Given the description of an element on the screen output the (x, y) to click on. 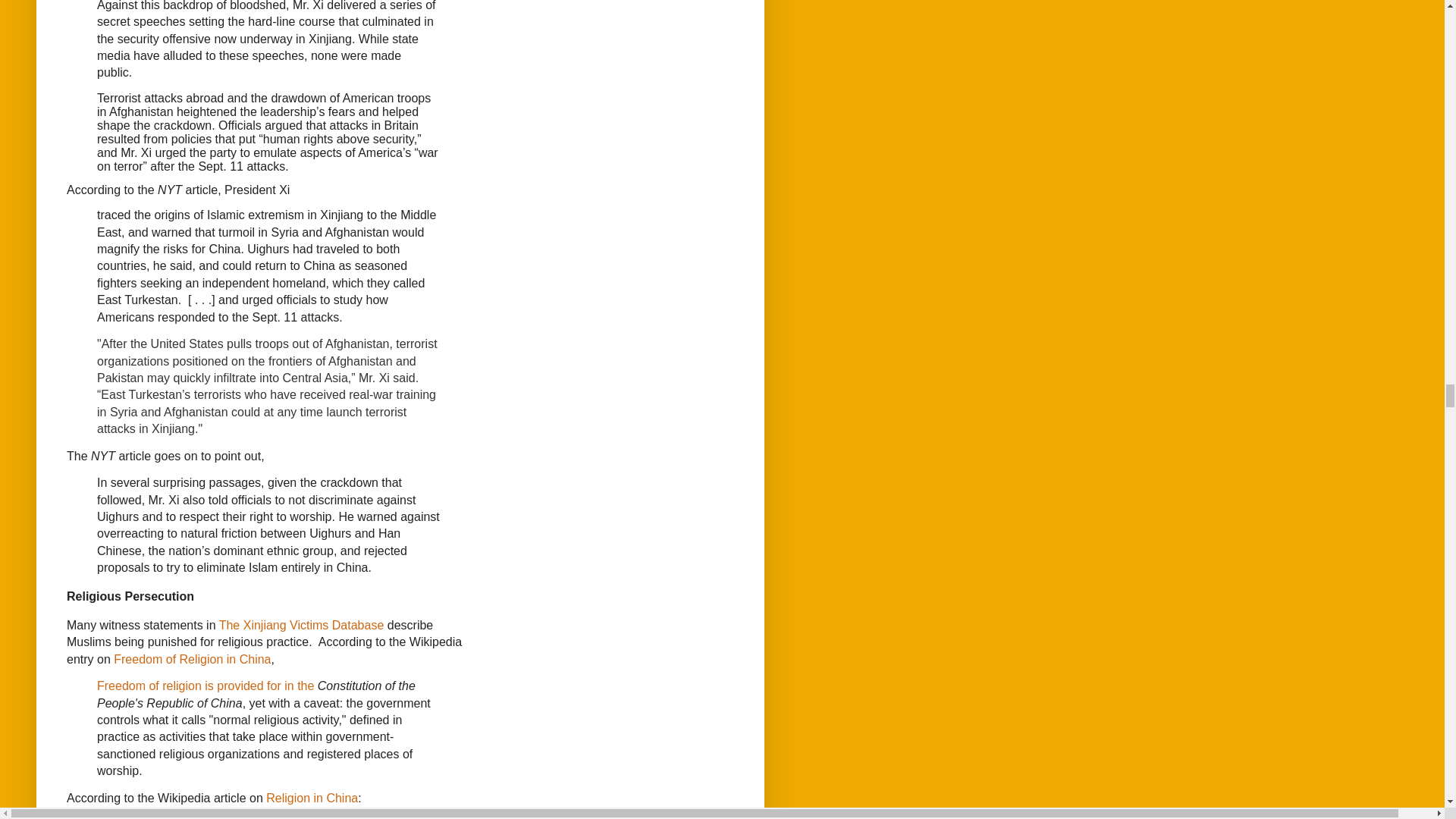
Constitution of the People's Republic of China (255, 694)
Buddhism (398, 818)
